Given the description of an element on the screen output the (x, y) to click on. 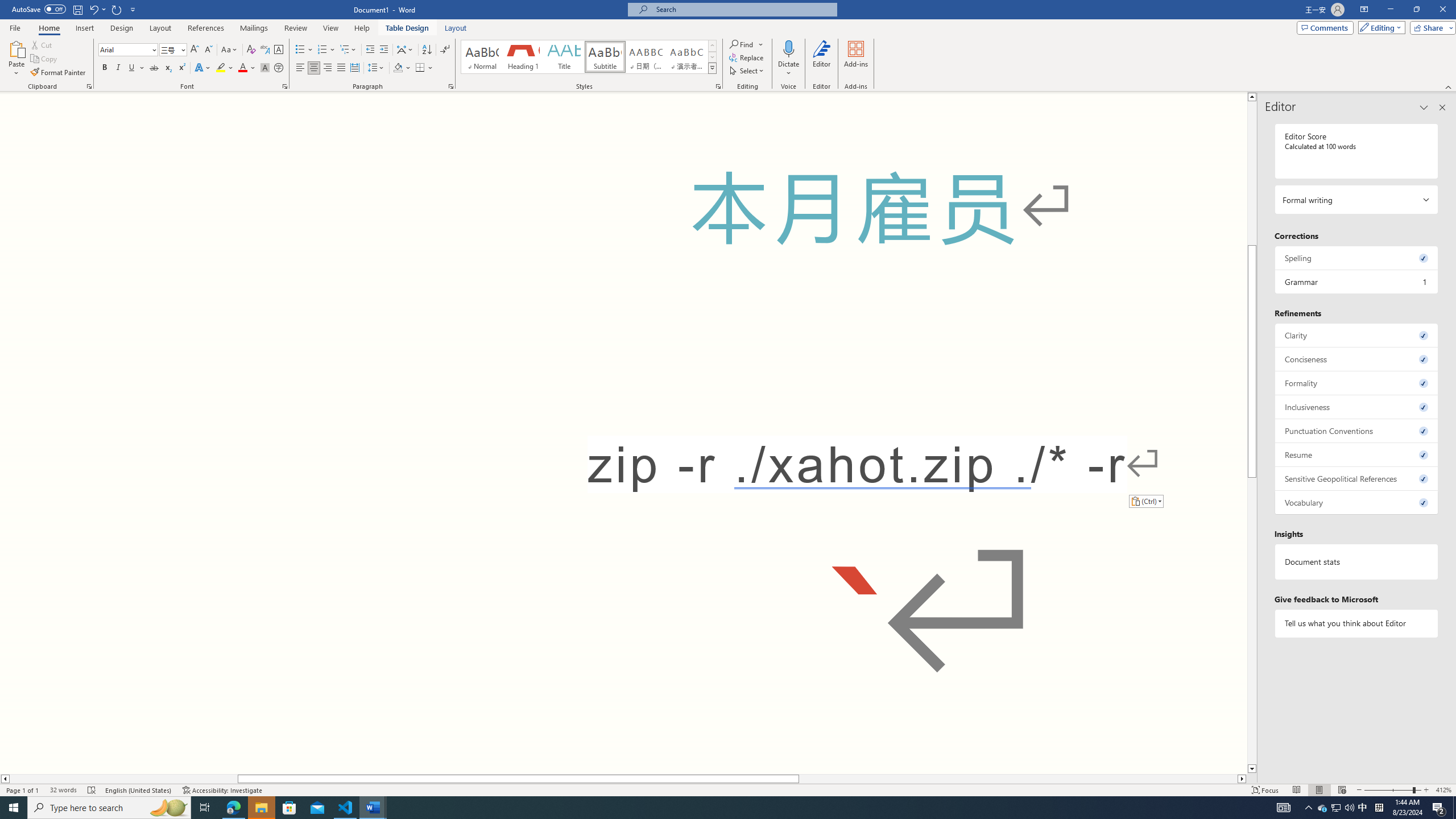
Grammar, 1 issue. Press space or enter to review items. (1356, 281)
Text Highlight Color (224, 67)
Row up (711, 45)
Formality, 0 issues. Press space or enter to review items. (1356, 382)
AutomationID: QuickStylesGallery (588, 56)
Zoom 412% (1443, 790)
Copy (45, 58)
Increase Indent (383, 49)
